Given the description of an element on the screen output the (x, y) to click on. 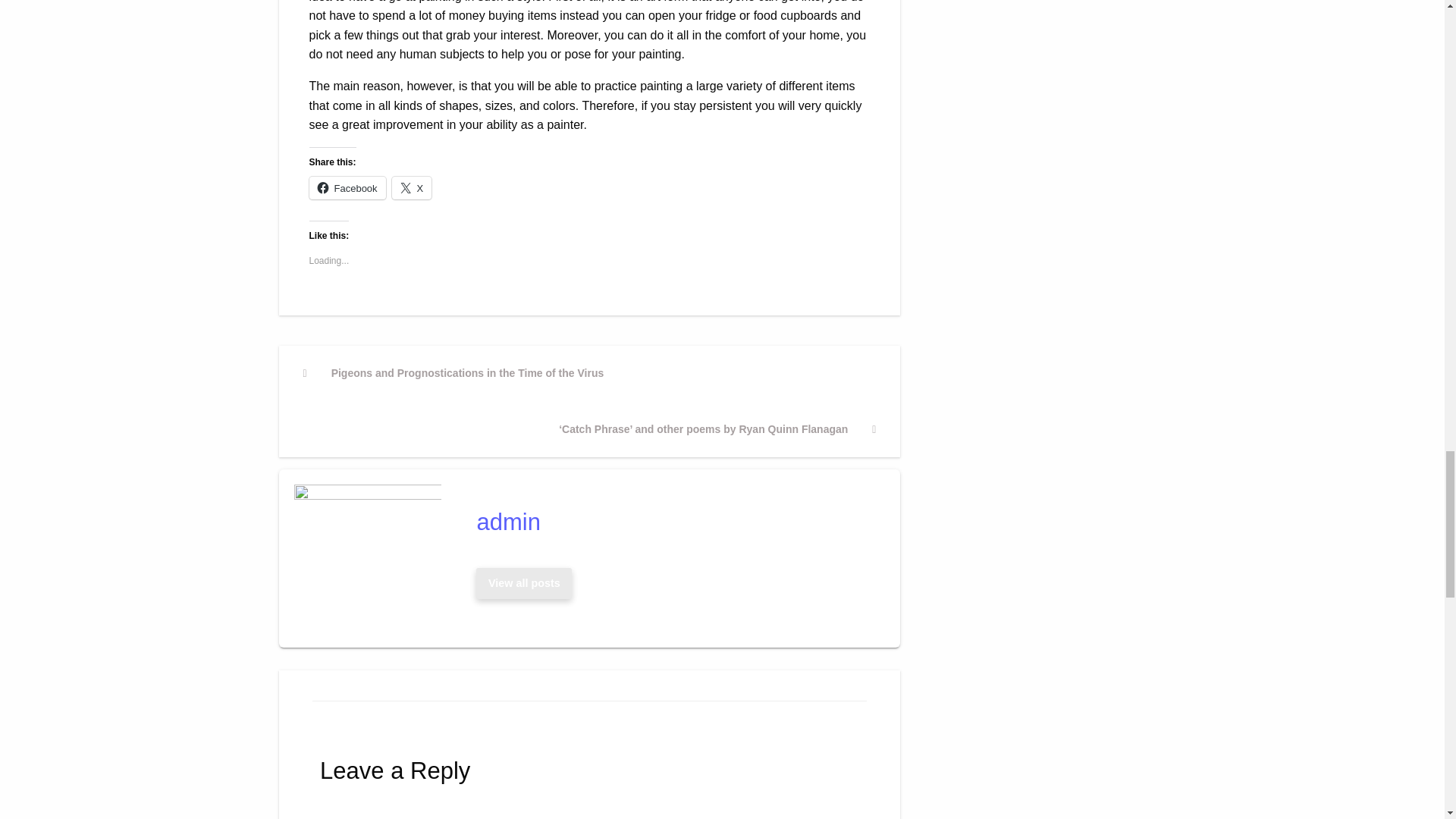
Click to share on X (411, 187)
admin (674, 522)
X (411, 187)
admin (674, 522)
Click to share on Facebook (346, 187)
Comment Form (589, 806)
Facebook (346, 187)
View all posts (524, 583)
View all posts (523, 582)
